Given the description of an element on the screen output the (x, y) to click on. 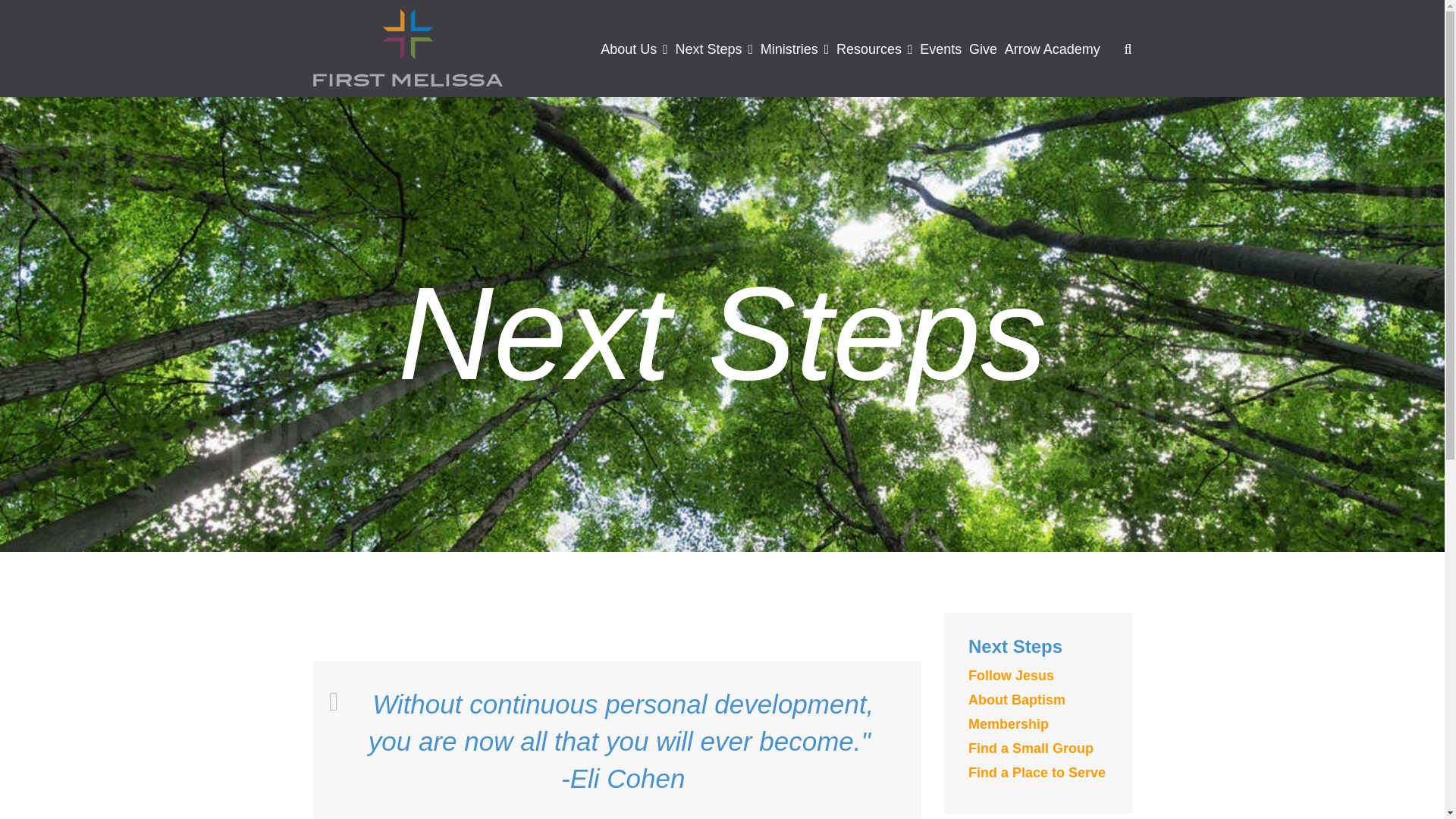
Events (940, 48)
Resources (873, 48)
Next Steps (713, 48)
Ministries (794, 48)
About Us (633, 48)
Arrow Academy (1052, 48)
